Given the description of an element on the screen output the (x, y) to click on. 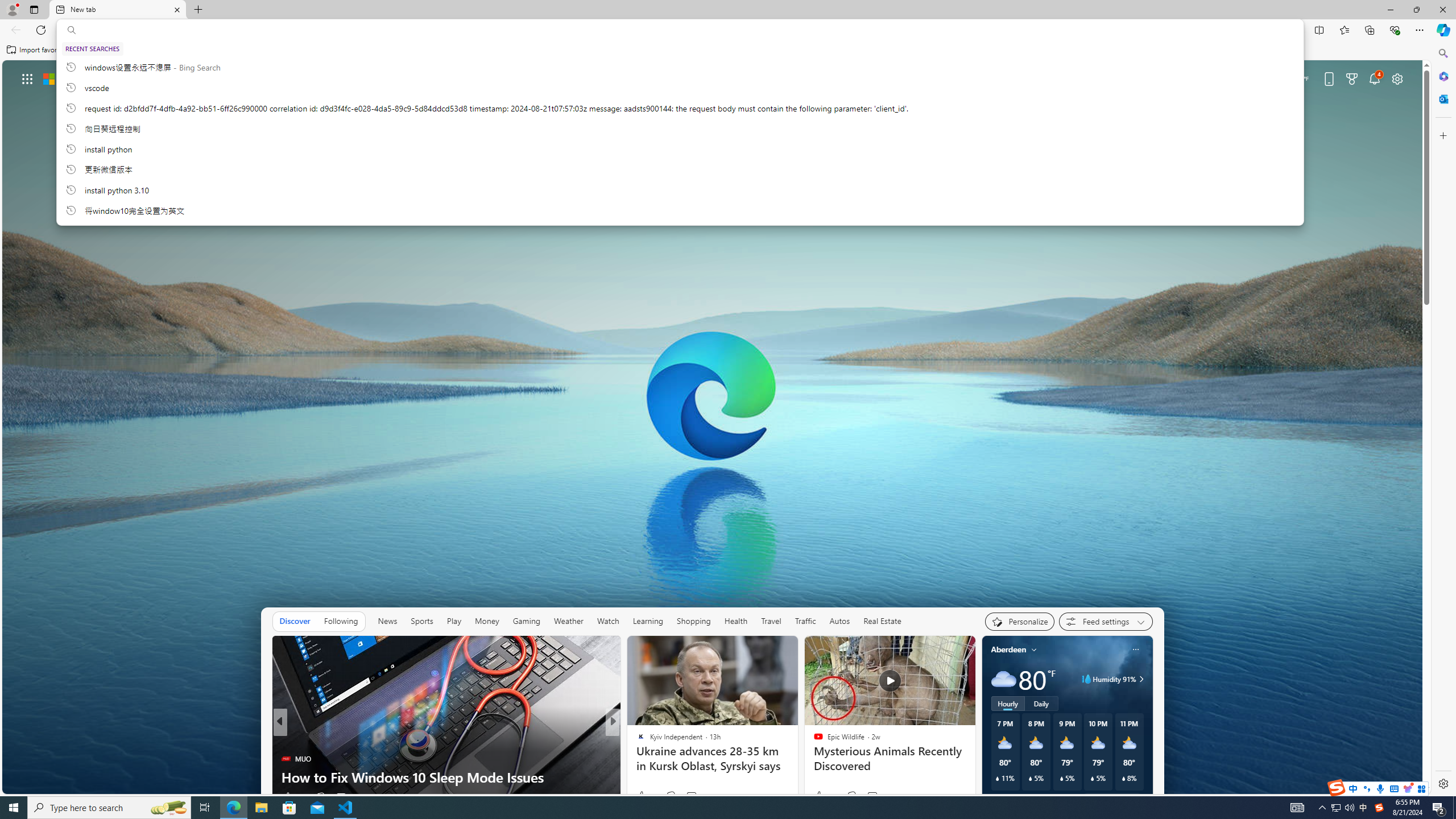
Page settings (1397, 78)
Cloudy (1003, 678)
Class: icon-img (1135, 649)
118 Like (293, 796)
Healthy Gem (635, 758)
View comments 89 Comment (691, 797)
FOX News (635, 740)
View comments 11 Comment (696, 796)
Simply Recipes (635, 740)
I Lost 50lbs With 3 Lifestyle Changes (796, 777)
